Given the description of an element on the screen output the (x, y) to click on. 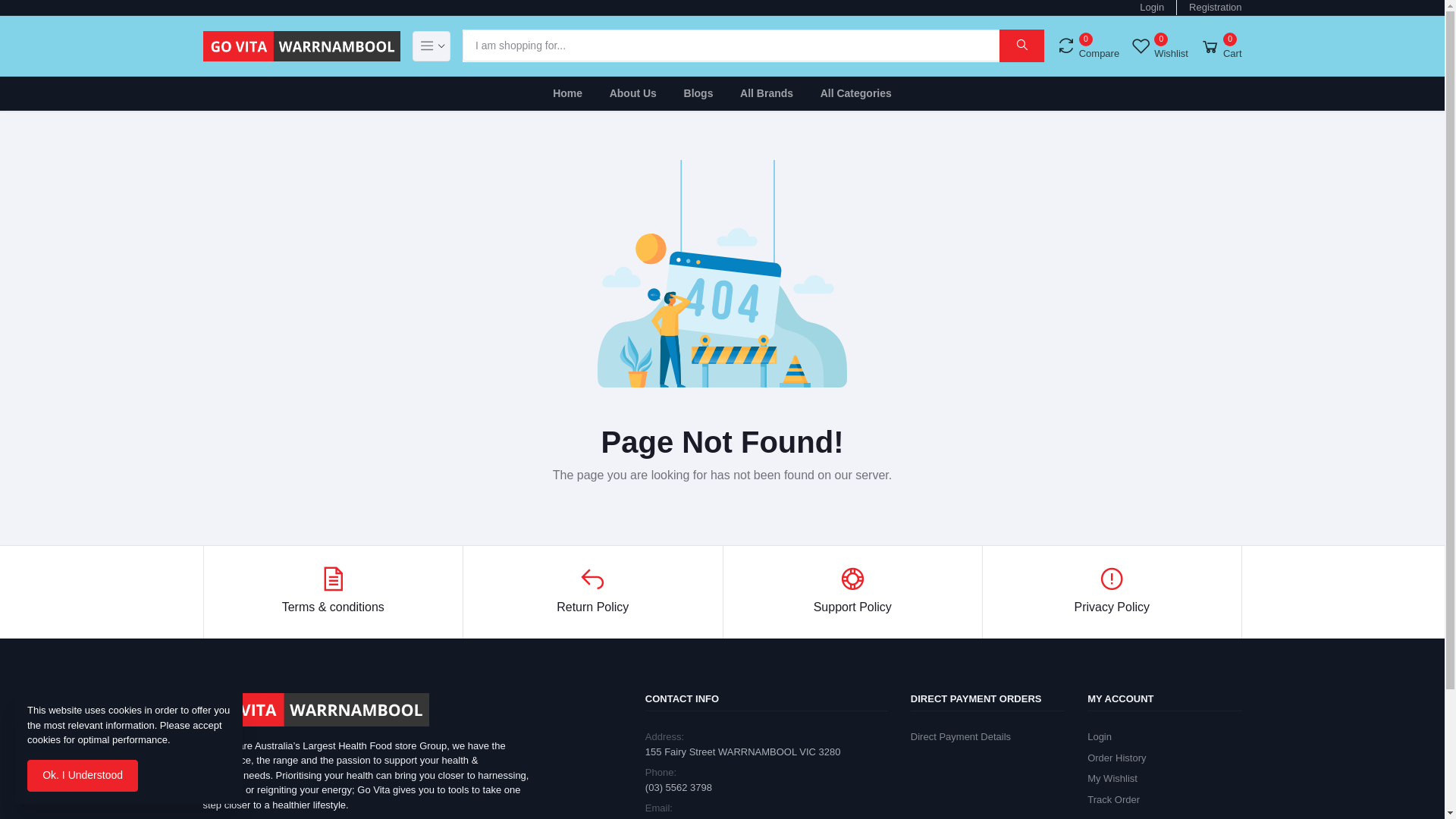
All Brands Element type: text (766, 92)
Privacy Policy Element type: text (1112, 592)
Order History Element type: text (1116, 757)
Return Policy Element type: text (592, 592)
Ok. I Understood Element type: text (82, 775)
0
Wishlist Element type: text (1159, 45)
Login Element type: text (1151, 7)
Support Policy Element type: text (851, 592)
Login Element type: text (1099, 736)
Registration Element type: text (1215, 7)
All Categories Element type: text (855, 92)
My Wishlist Element type: text (1112, 778)
Blogs Element type: text (698, 92)
Home Element type: text (567, 92)
0
Compare Element type: text (1087, 45)
Terms & conditions Element type: text (333, 592)
About Us Element type: text (632, 92)
Track Order Element type: text (1113, 799)
0
Cart Element type: text (1221, 45)
Direct Payment Details Element type: text (960, 736)
